Given the description of an element on the screen output the (x, y) to click on. 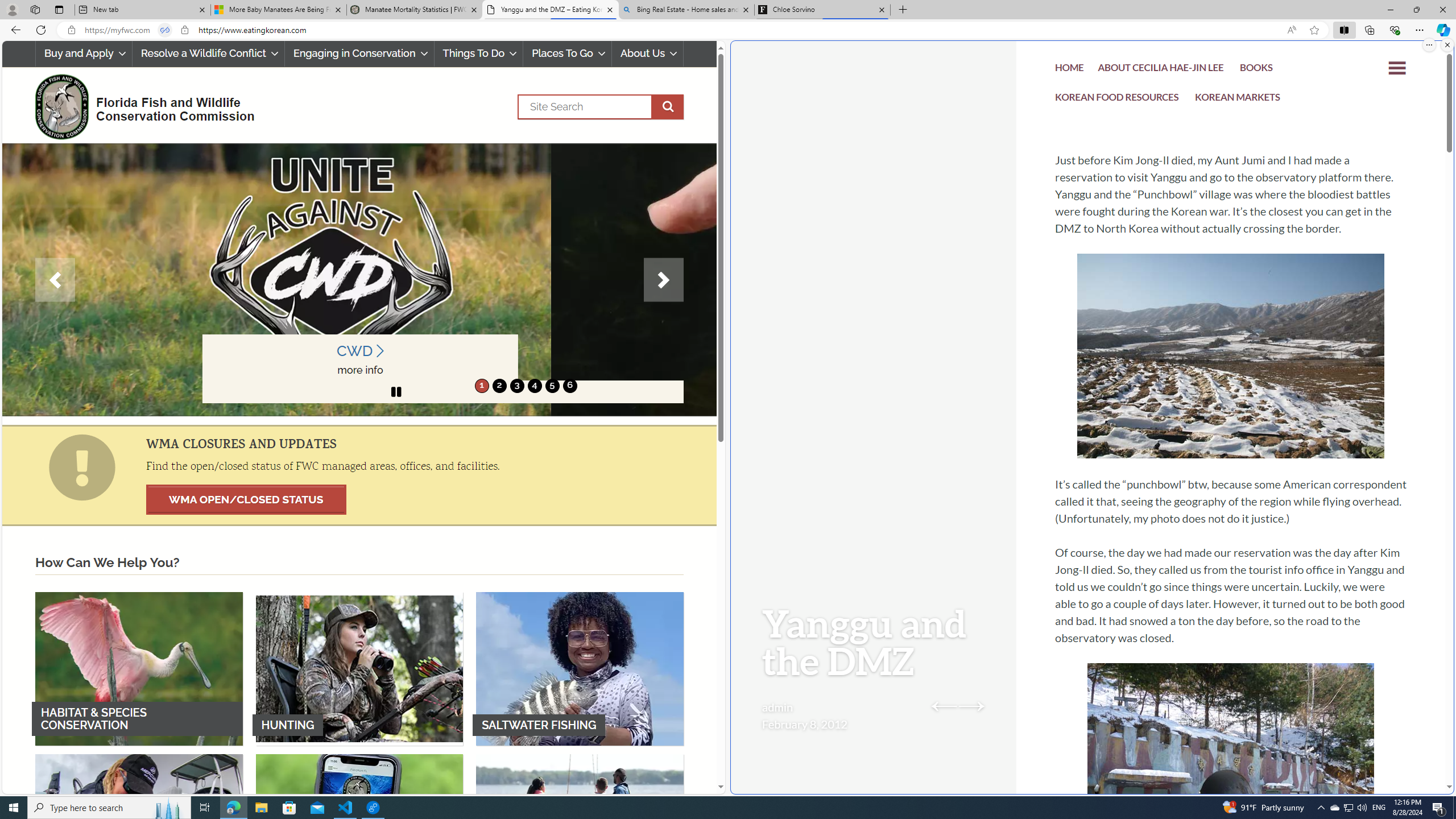
BOOKS (1256, 70)
ABOUT CECILIA HAE-JIN LEE (1160, 68)
admin (777, 707)
Resolve a Wildlife Conflict (207, 53)
move to slide 5 (551, 385)
KOREAN FOOD RESOURCES (1117, 98)
Pasco Zone Reopening  (526, 369)
Next (663, 279)
